Given the description of an element on the screen output the (x, y) to click on. 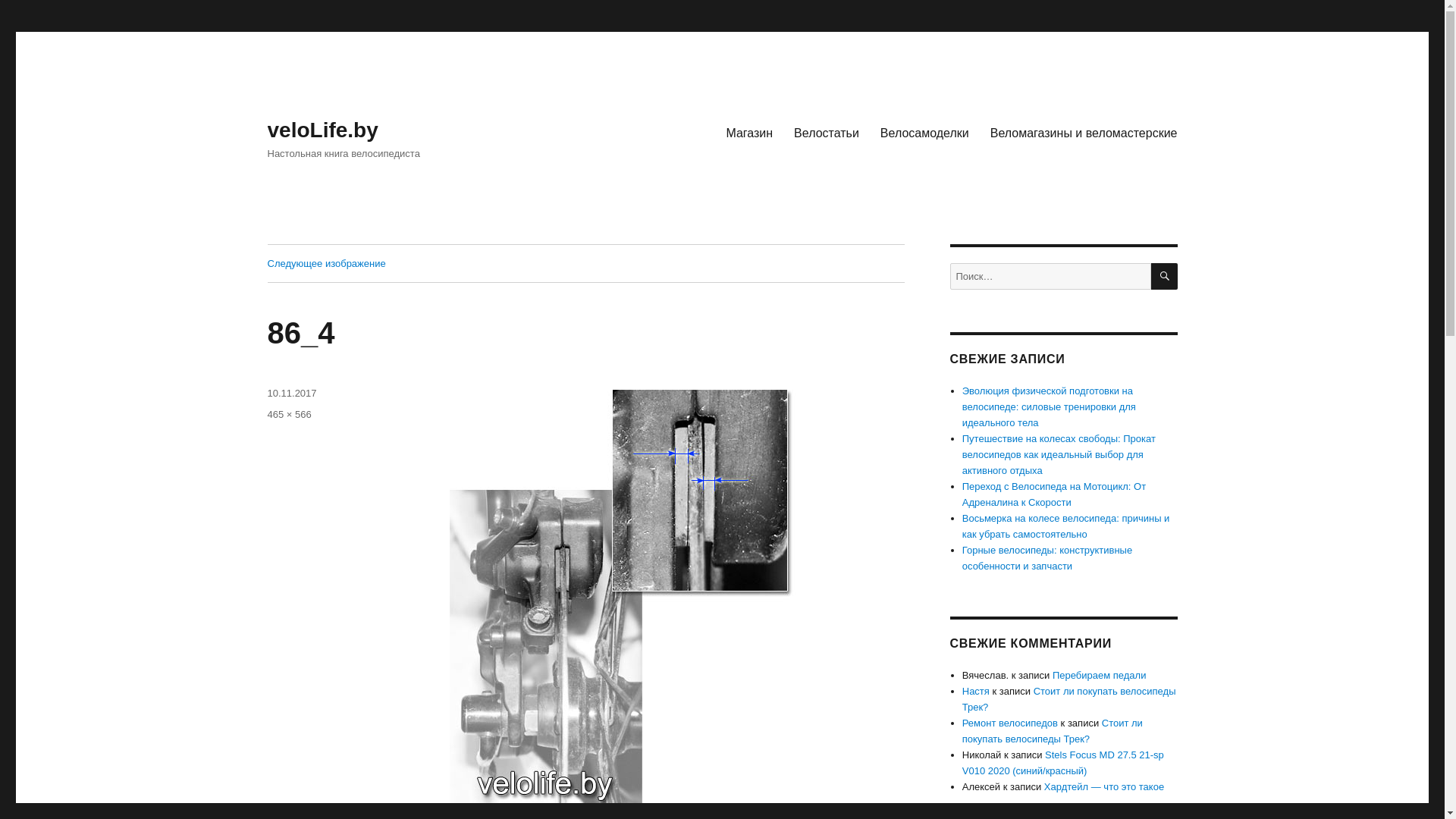
10.11.2017 Element type: text (291, 392)
veloLife.by Element type: text (321, 129)
